Given the description of an element on the screen output the (x, y) to click on. 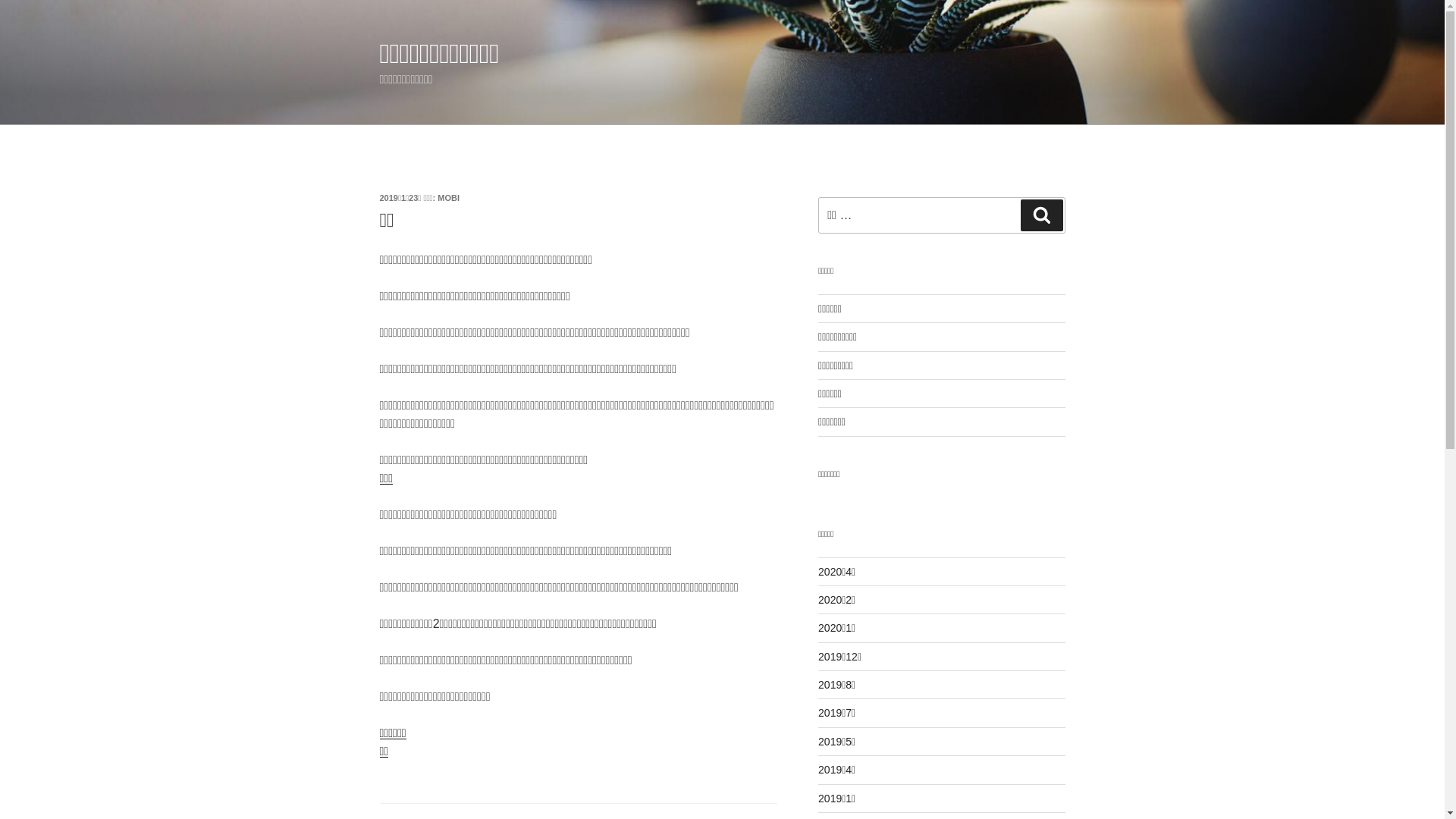
MOBI Element type: text (448, 197)
